Given the description of an element on the screen output the (x, y) to click on. 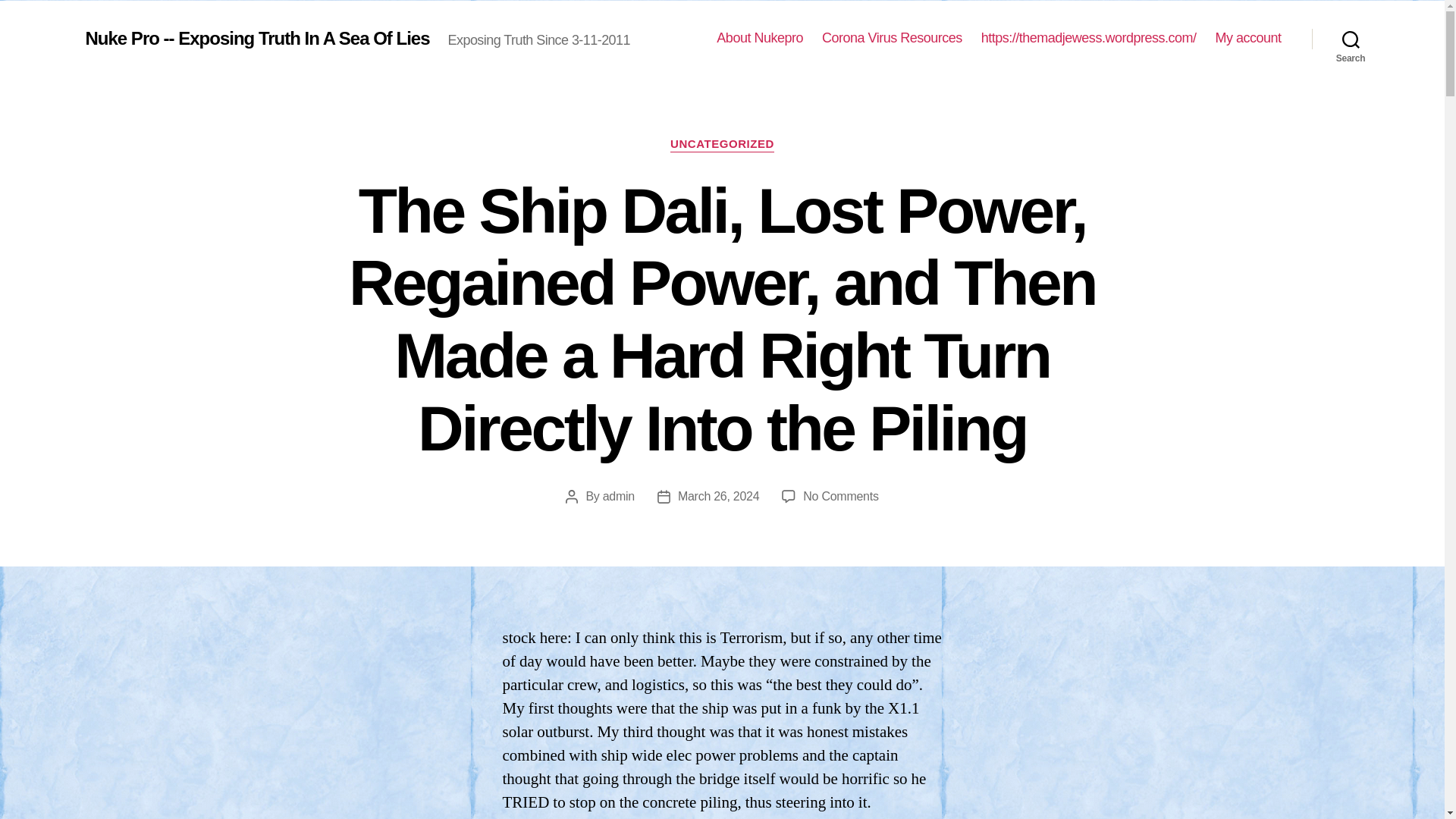
admin (618, 495)
UNCATEGORIZED (721, 144)
Nuke Pro -- Exposing Truth In A Sea Of Lies (256, 37)
March 26, 2024 (718, 495)
About Nukepro (759, 38)
Search (1350, 38)
My account (1247, 38)
Corona Virus Resources (892, 38)
